Given the description of an element on the screen output the (x, y) to click on. 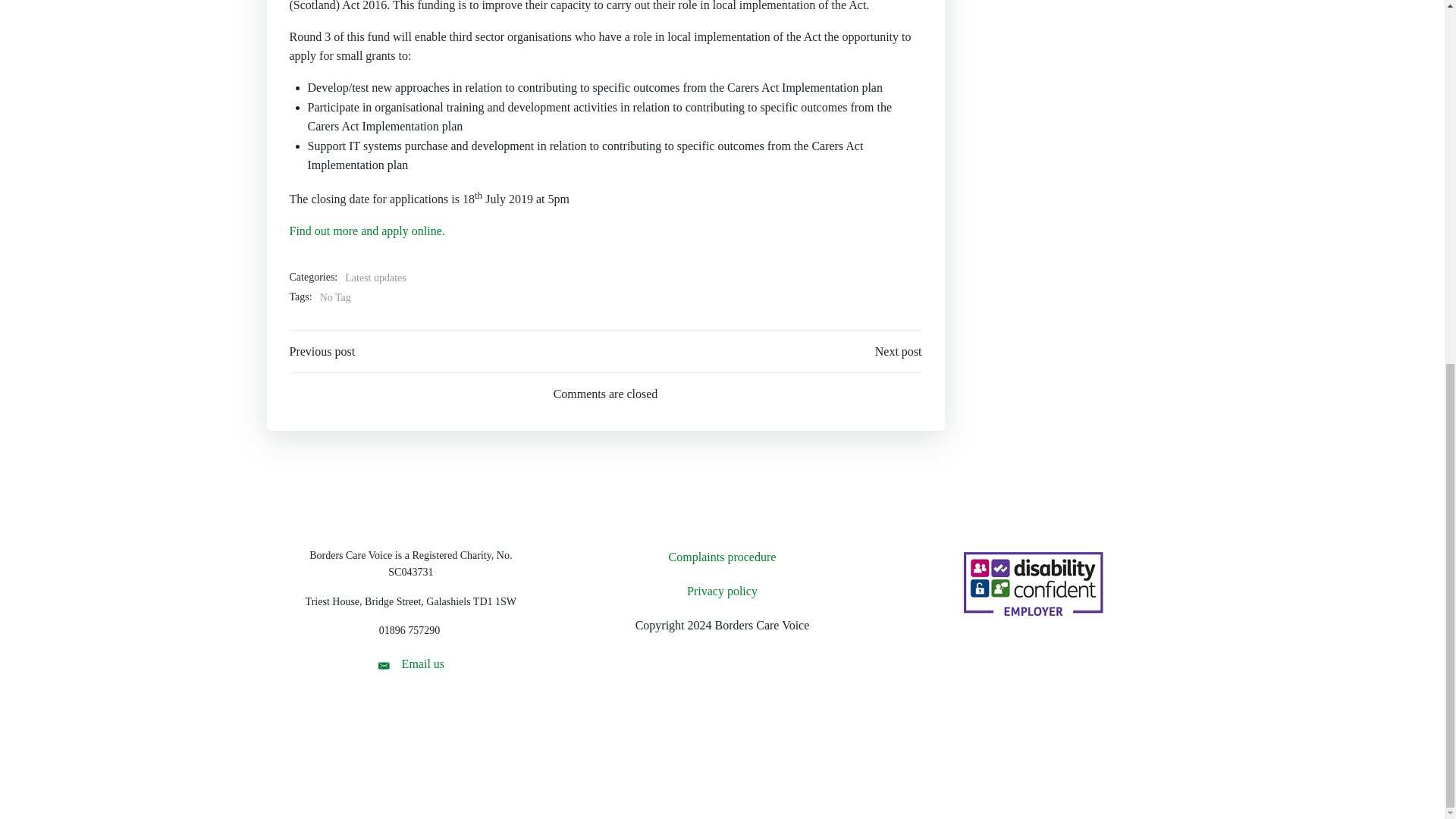
Latest updates (375, 278)
Complaints procedure (722, 556)
Email us (410, 664)
Find out more and apply online. (367, 230)
Next post (898, 352)
Privacy policy (722, 591)
Previous post (322, 352)
